Given the description of an element on the screen output the (x, y) to click on. 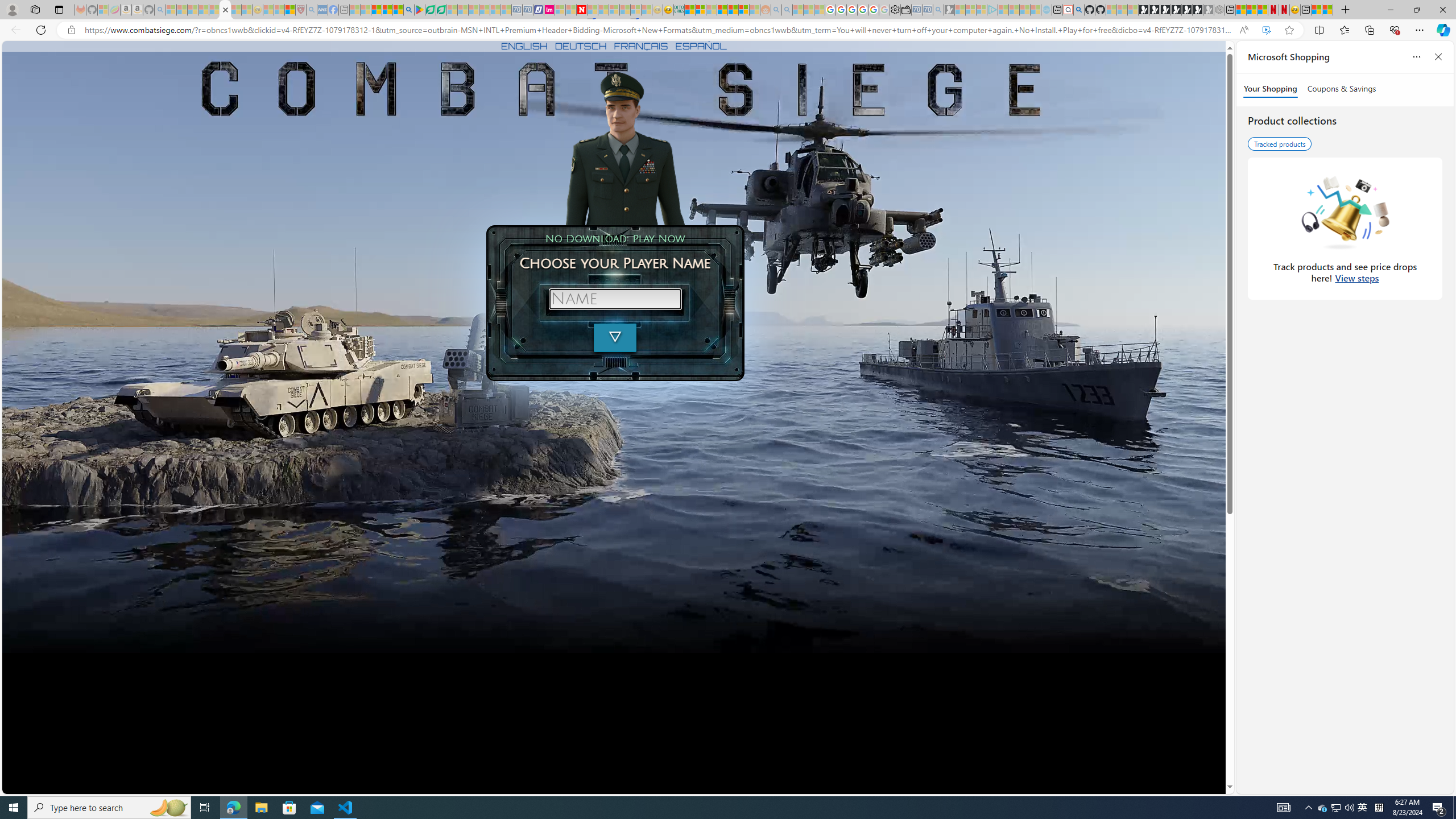
Terms of Use Agreement (430, 9)
Play Cave FRVR in your browser | Games from Microsoft Start (1164, 9)
google - Search (408, 9)
Microsoft Word - consumer-privacy address update 2.2021 (440, 9)
Name (614, 298)
New tab - Sleeping (343, 9)
Microsoft Start Gaming - Sleeping (949, 9)
Pets - MSN (387, 9)
